Given the description of an element on the screen output the (x, y) to click on. 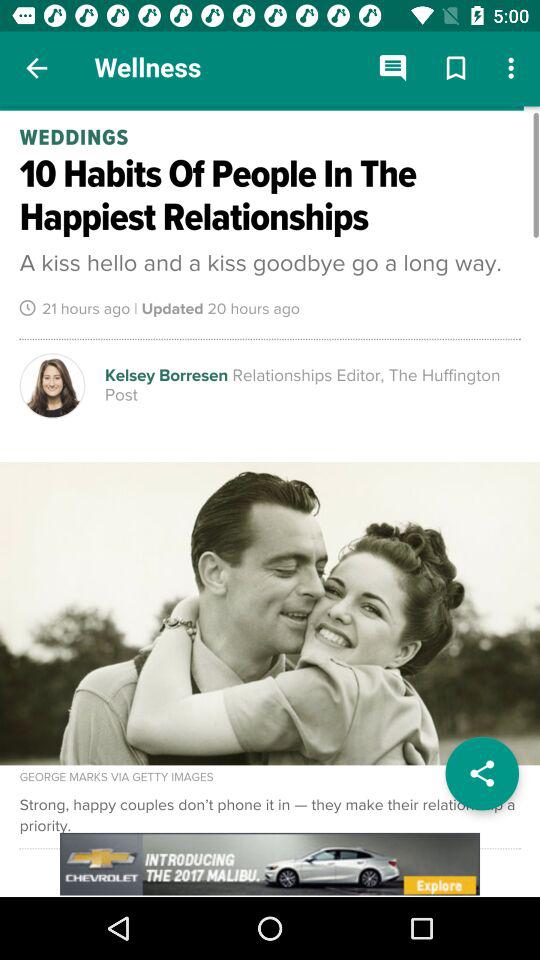
go to advertisement (270, 863)
